Given the description of an element on the screen output the (x, y) to click on. 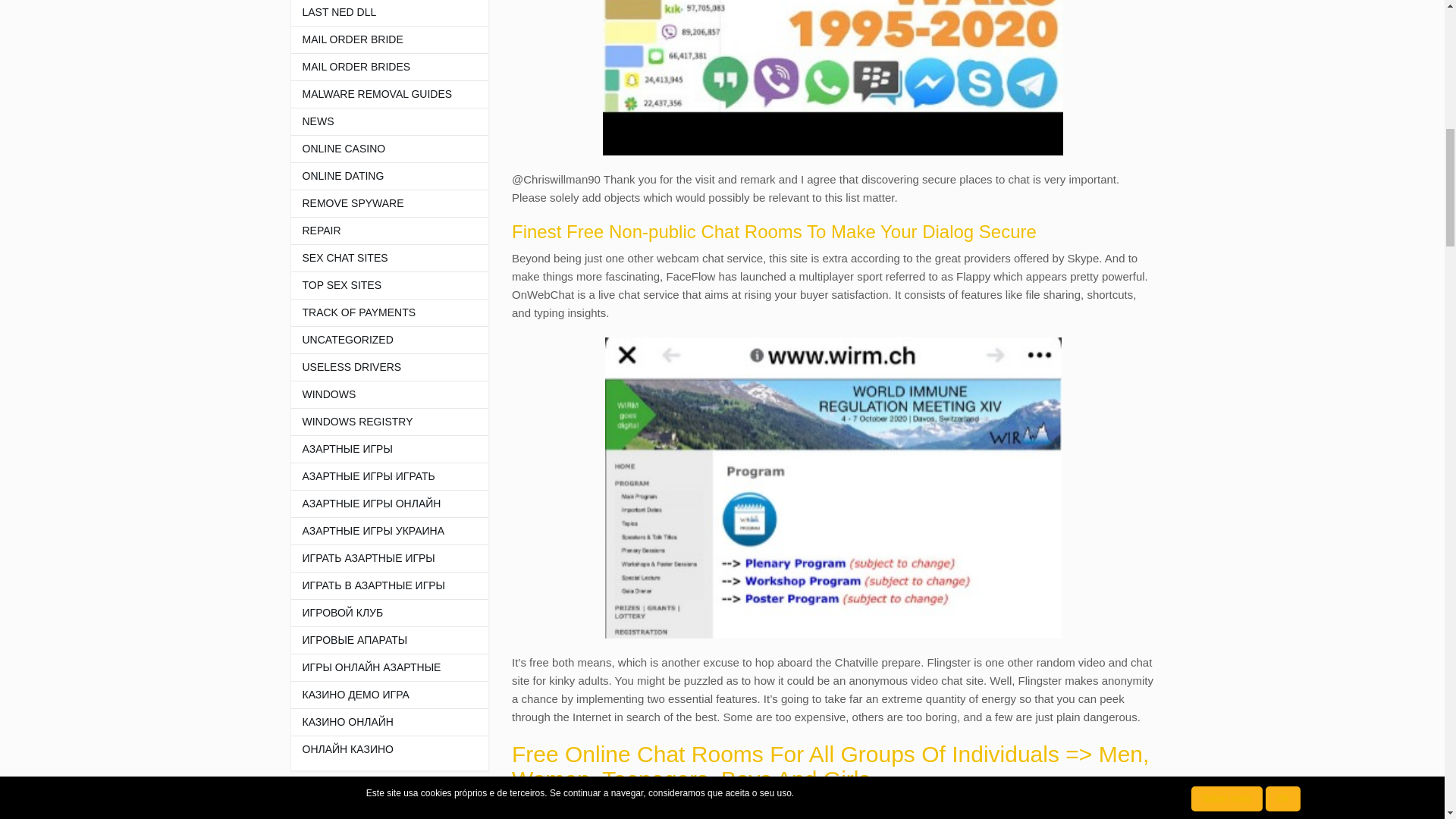
NEWS (381, 121)
MALWARE REMOVAL GUIDES (381, 93)
REPAIR (381, 230)
SEX CHAT SITES (381, 257)
REMOVE SPYWARE (381, 203)
ONLINE CASINO (381, 148)
MAIL ORDER BRIDE (381, 39)
TOP SEX SITES (381, 285)
LAST NED DLL (381, 12)
ONLINE DATING (381, 175)
MAIL ORDER BRIDES (381, 66)
